Given the description of an element on the screen output the (x, y) to click on. 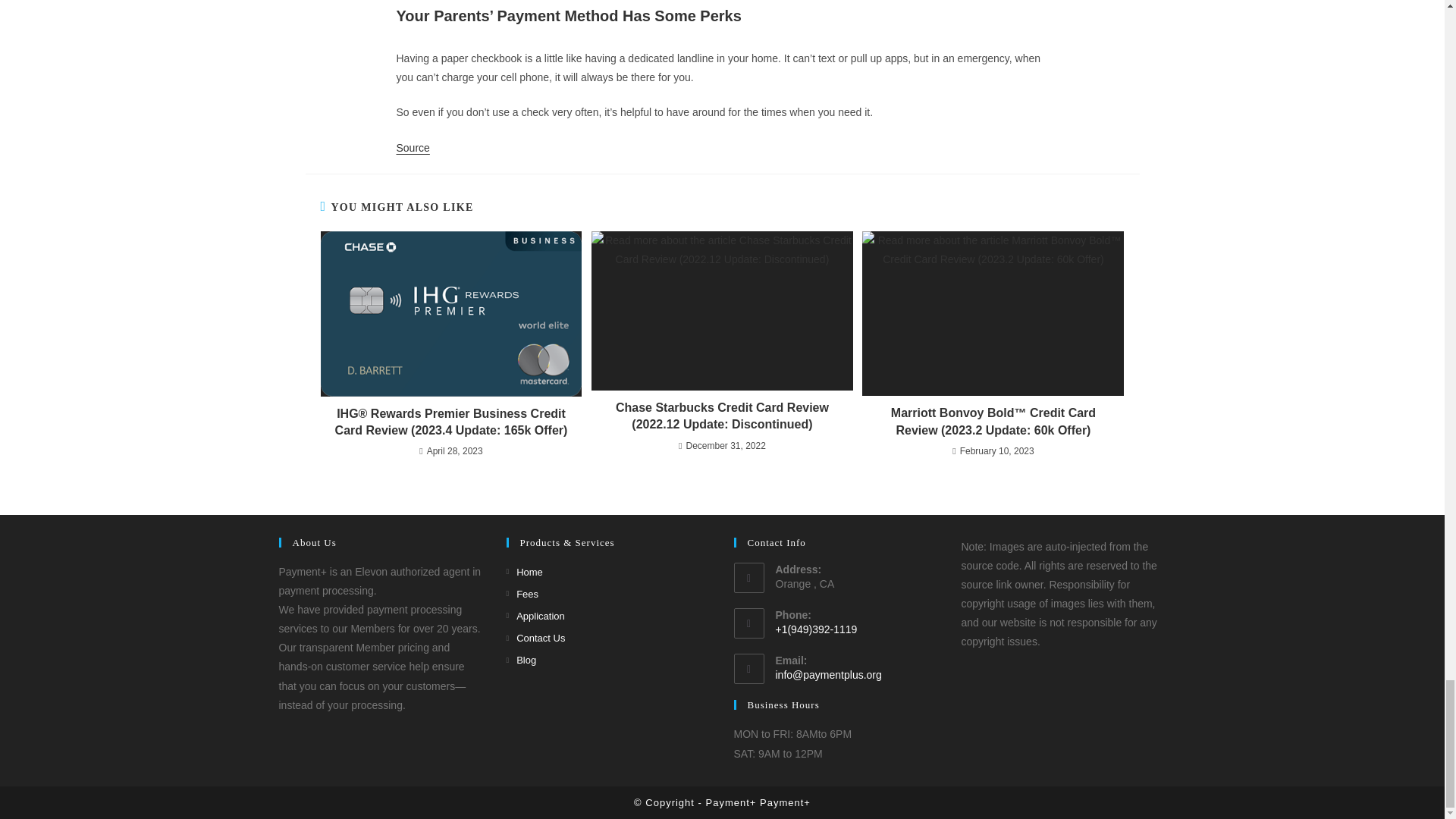
Fees (522, 593)
Source (412, 147)
Application (535, 615)
Home (524, 571)
Contact Us (536, 638)
Blog (521, 660)
